Given the description of an element on the screen output the (x, y) to click on. 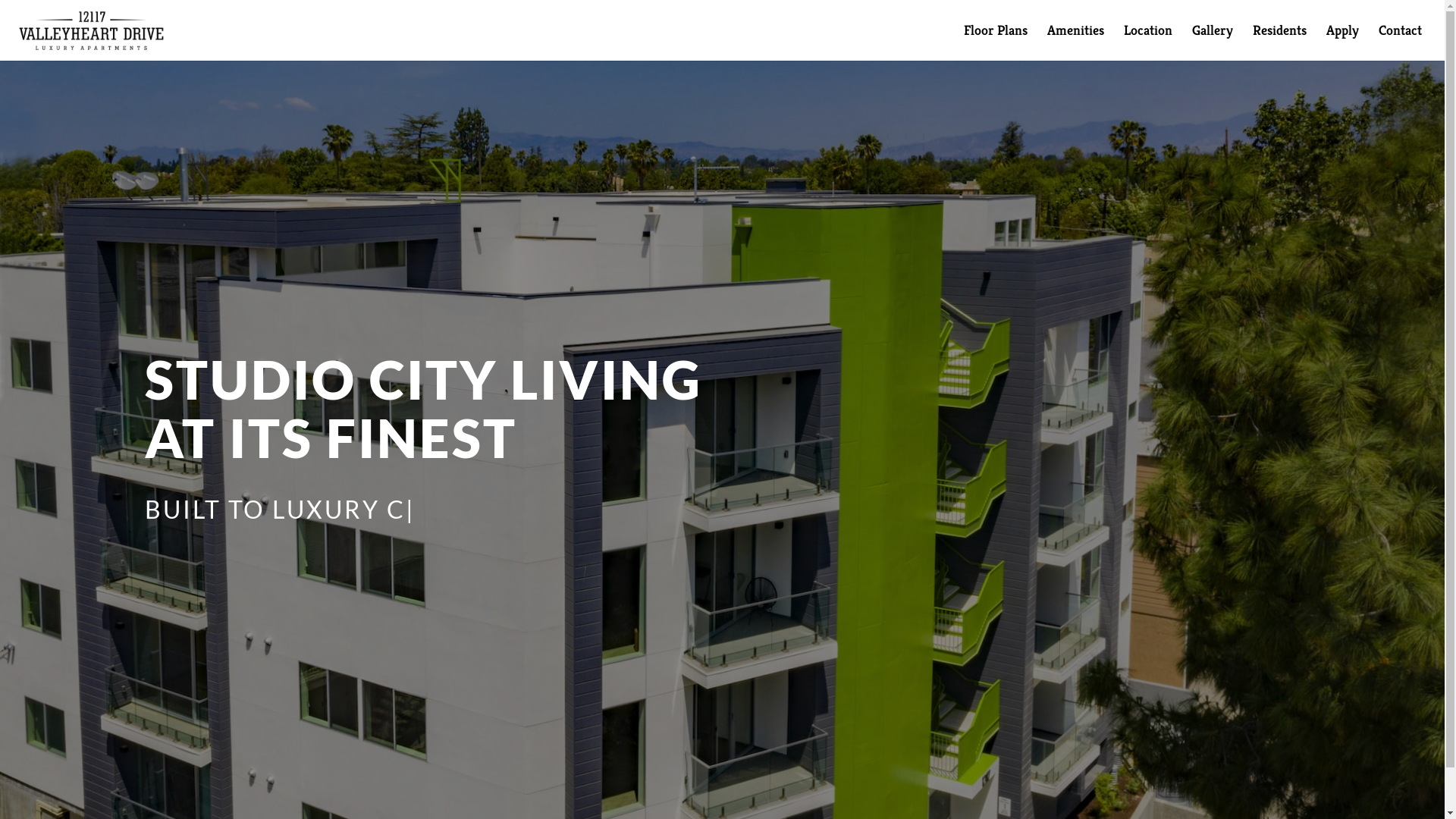
Location Element type: text (1147, 42)
Amenities Element type: text (1075, 42)
Residents Element type: text (1279, 42)
Floor Plans Element type: text (995, 42)
Gallery Element type: text (1212, 42)
Apply Element type: text (1342, 42)
Contact Element type: text (1399, 42)
